Given the description of an element on the screen output the (x, y) to click on. 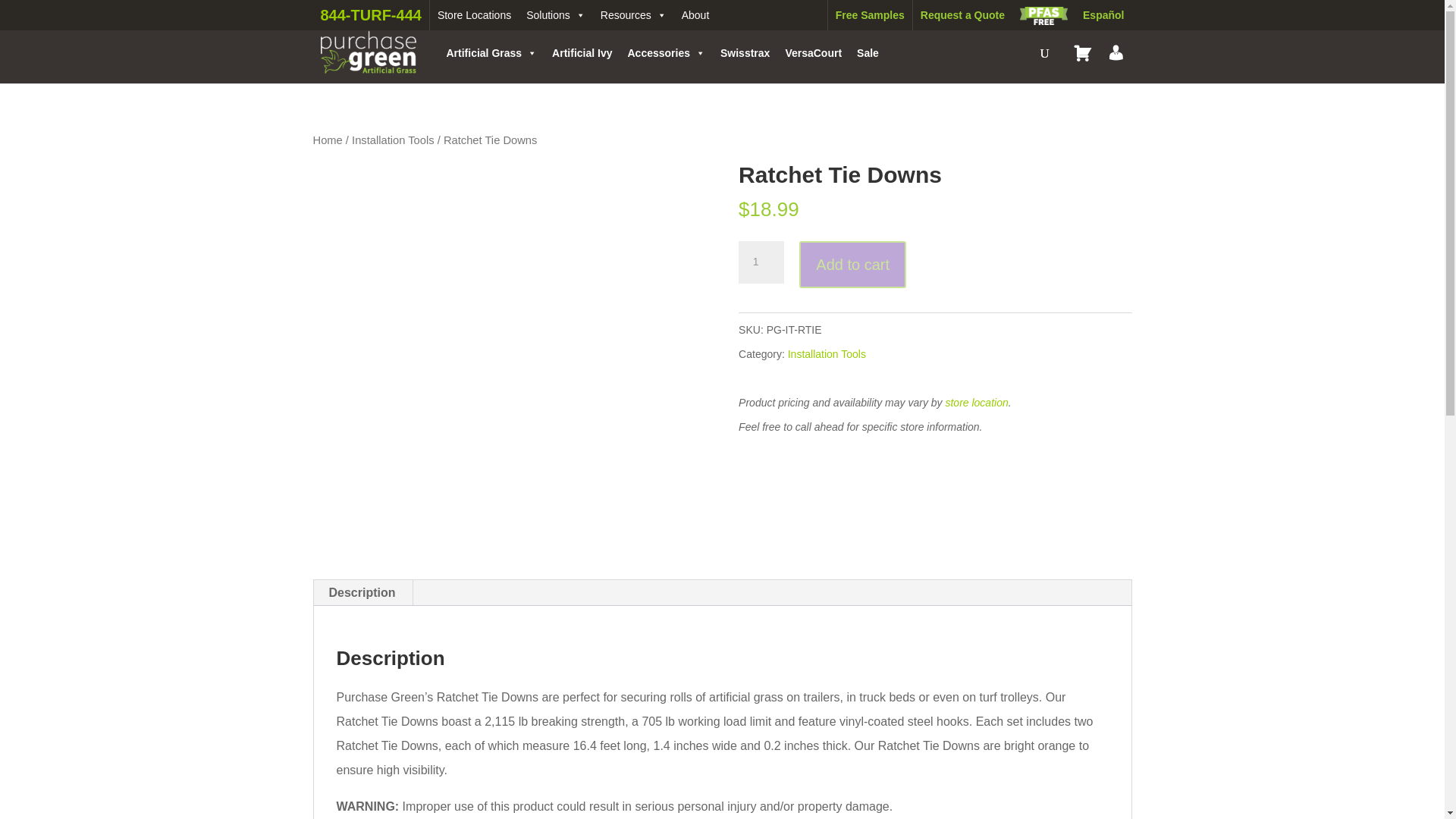
844-TURF-444 (371, 15)
Resources (633, 15)
Artificial Grass (491, 52)
Solutions (555, 15)
About (695, 15)
Request a Quote (961, 15)
Store Locations (473, 15)
1 (761, 261)
Free Samples (869, 15)
